Given the description of an element on the screen output the (x, y) to click on. 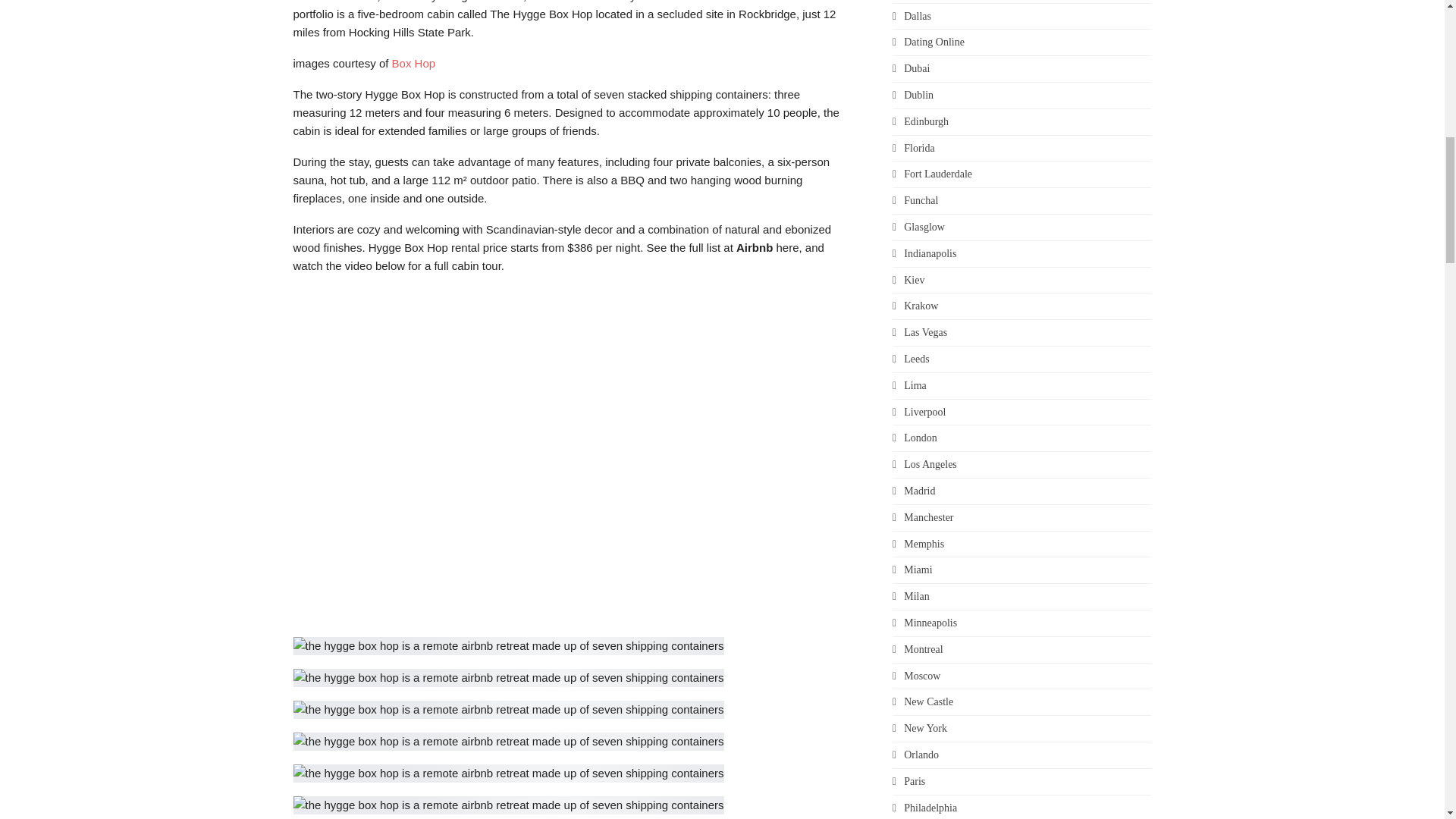
Box Hop (413, 62)
